Given the description of an element on the screen output the (x, y) to click on. 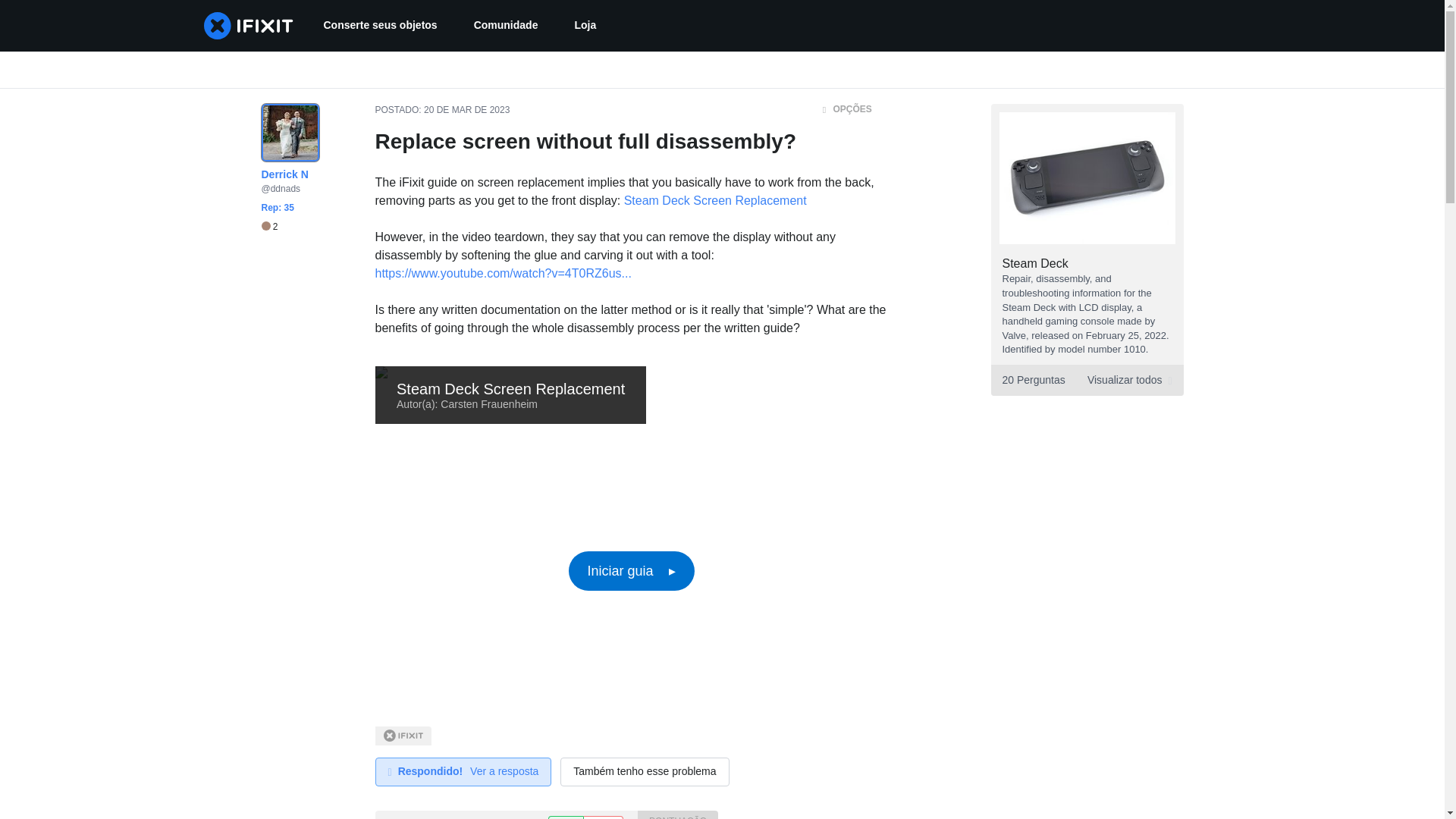
Loja (1086, 379)
2 emblemas de Bronze (585, 25)
Respondido! Ver a resposta (269, 226)
Mon, 20 Mar 2023 11:49:49 -0700 (462, 771)
2 (466, 109)
Comunidade (269, 226)
Conserte seus objetos (505, 25)
Steam Deck Screen Replacement (379, 25)
POSTADO: 20 DE MAR DE 2023 (715, 200)
